Given the description of an element on the screen output the (x, y) to click on. 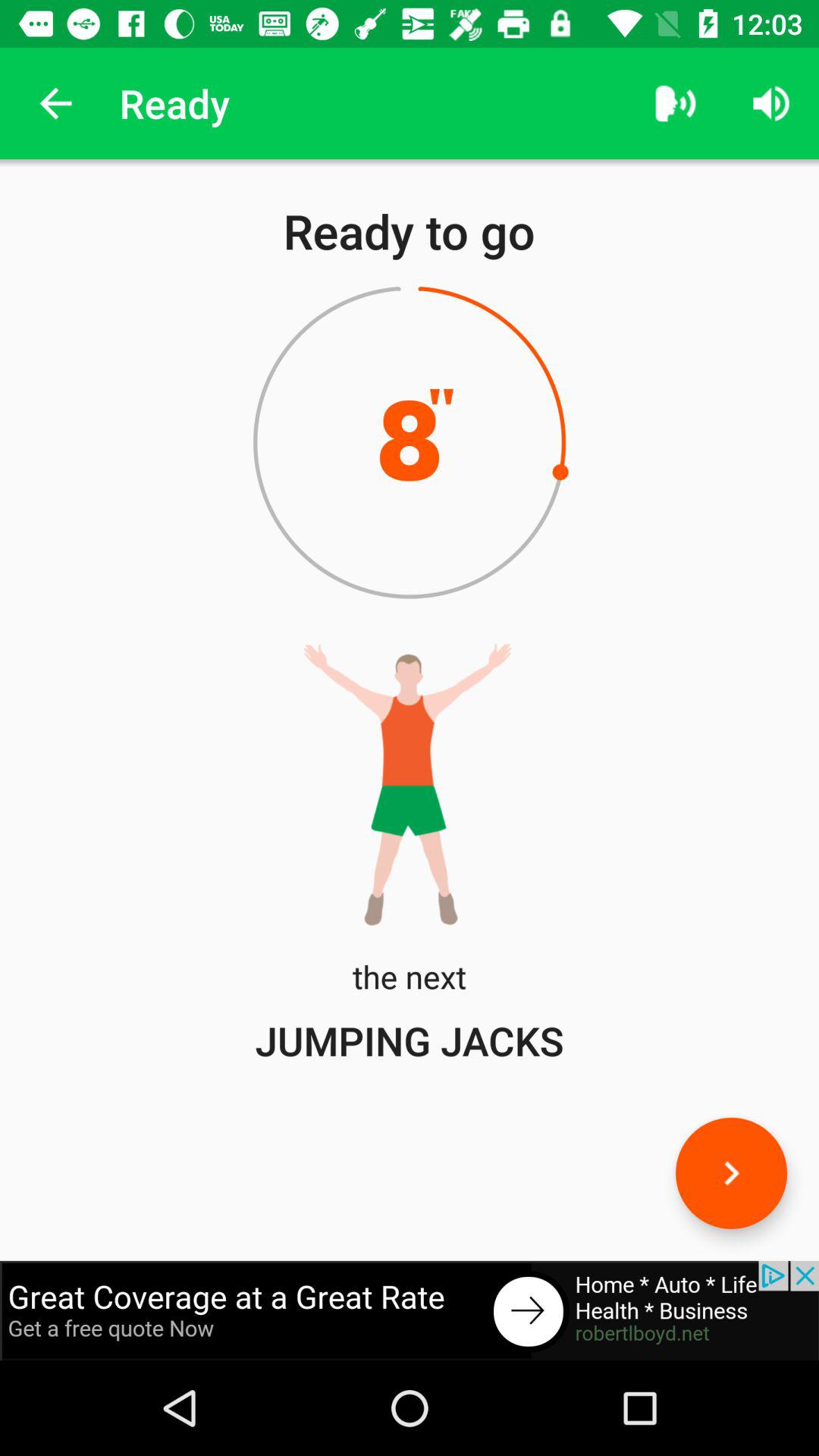
open advertisement (409, 1310)
